Given the description of an element on the screen output the (x, y) to click on. 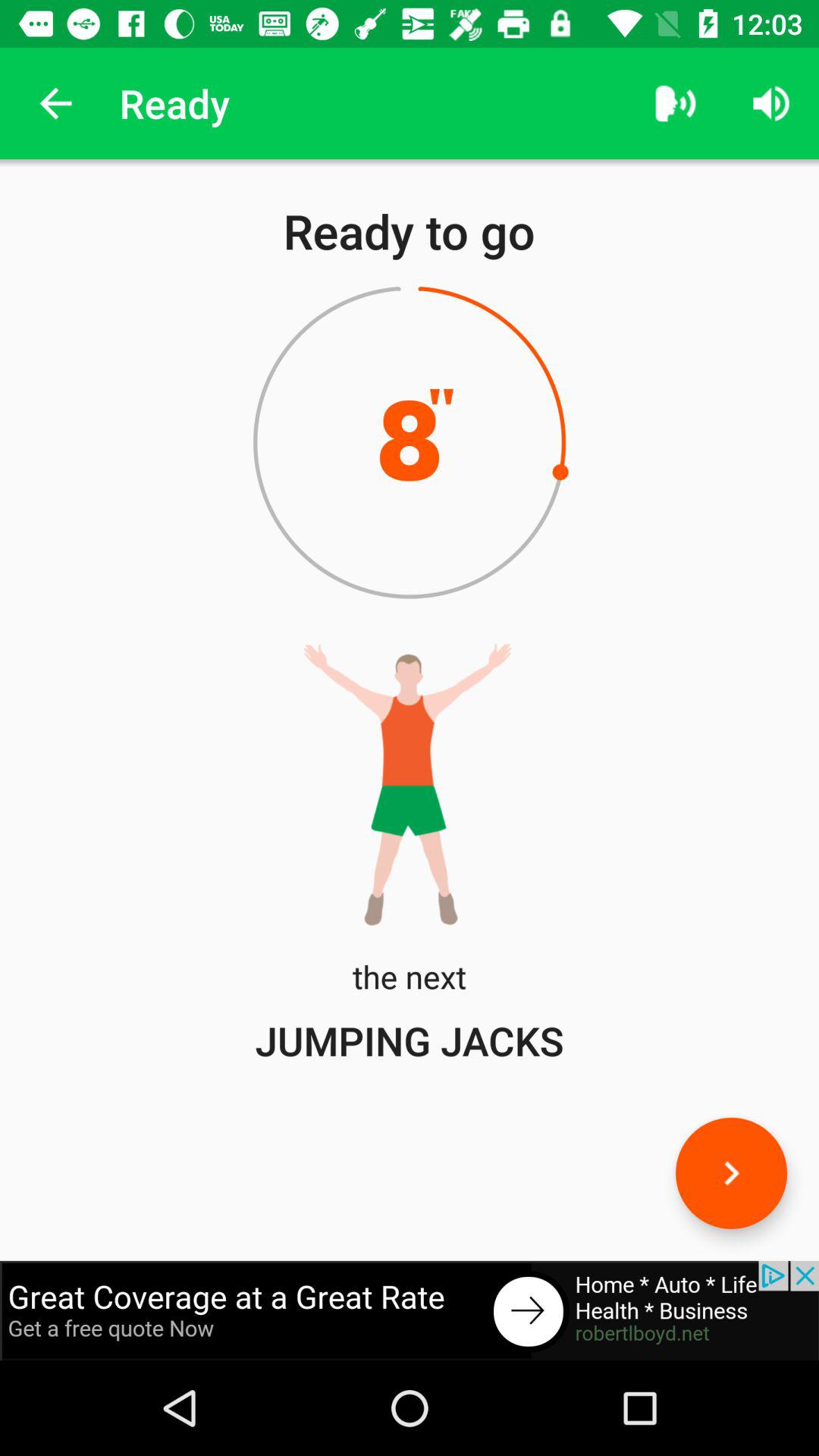
open advertisement (409, 1310)
